Given the description of an element on the screen output the (x, y) to click on. 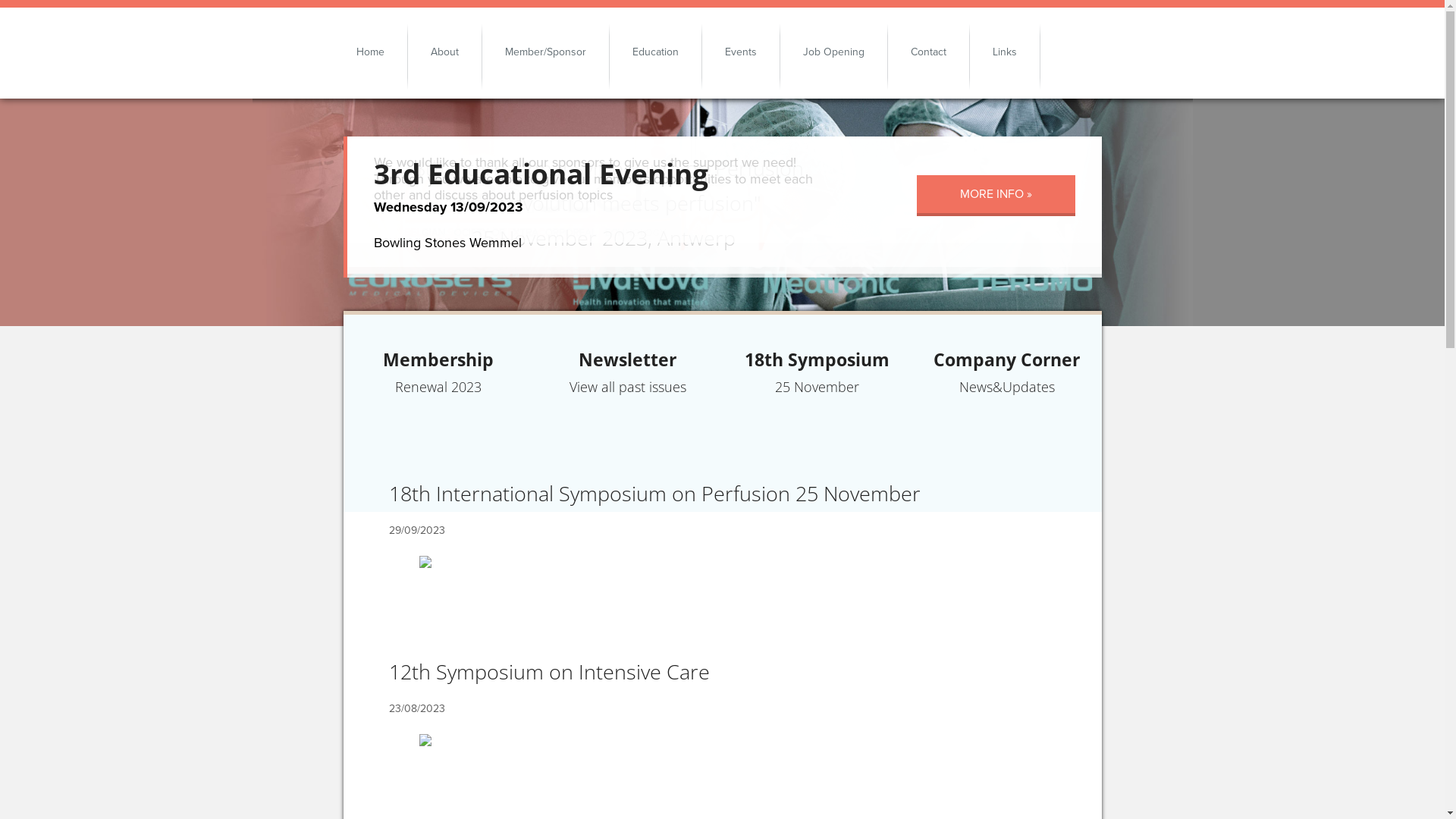
News&Updates Element type: text (1006, 404)
About Element type: text (444, 51)
Job Opening Element type: text (833, 51)
Links Element type: text (1004, 51)
Home Element type: text (381, 51)
25 November Element type: text (817, 404)
Renewal 2023 Element type: text (437, 404)
Login Element type: text (1069, 53)
Member/Sponsor Element type: text (545, 51)
Contact Element type: text (928, 51)
Education Element type: text (655, 51)
View all past issues Element type: text (627, 404)
Events Element type: text (740, 51)
